Given the description of an element on the screen output the (x, y) to click on. 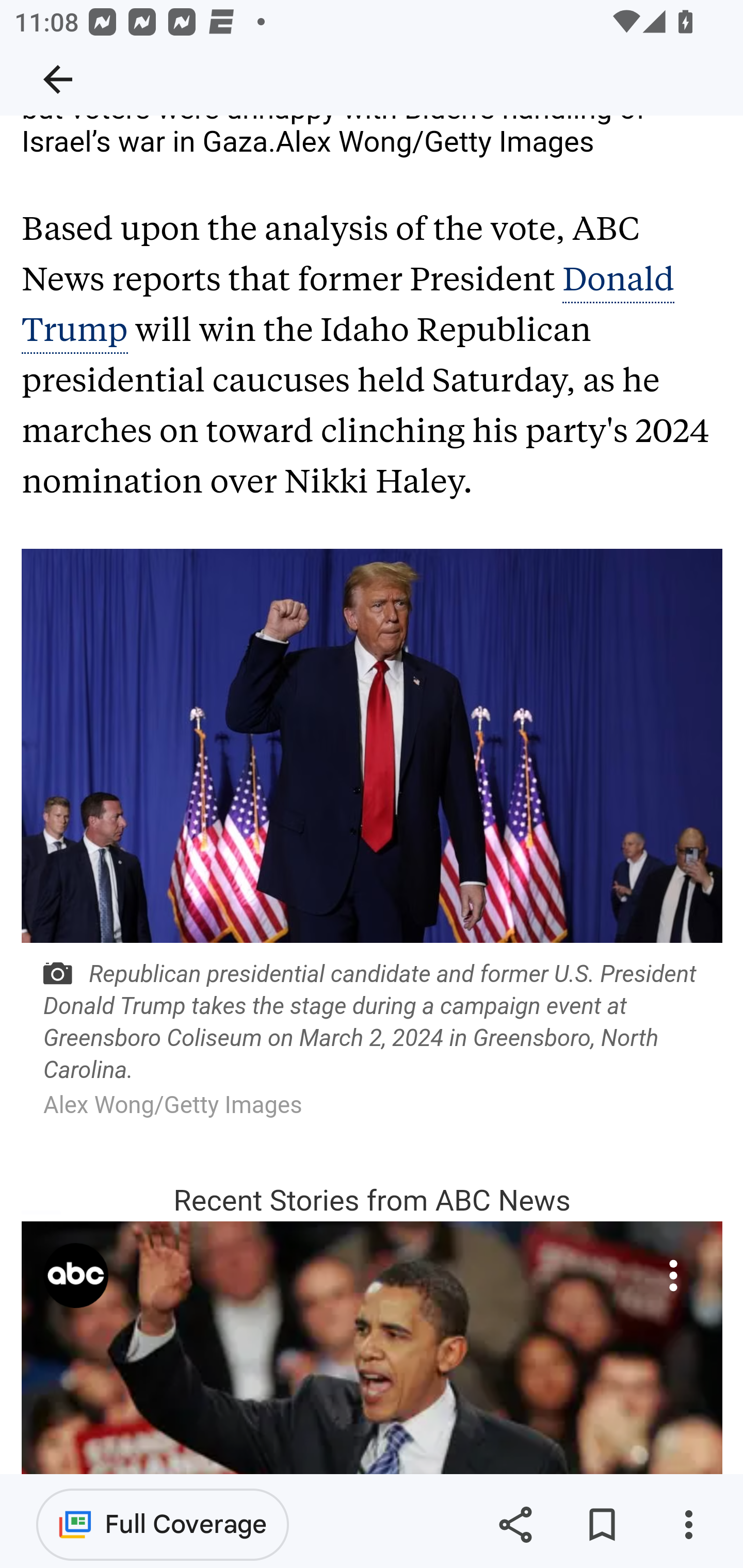
Navigate up (57, 79)
Donald Trump (348, 305)
More (673, 1276)
Share (514, 1524)
Save for later (601, 1524)
More options (688, 1524)
Full Coverage (162, 1524)
